Given the description of an element on the screen output the (x, y) to click on. 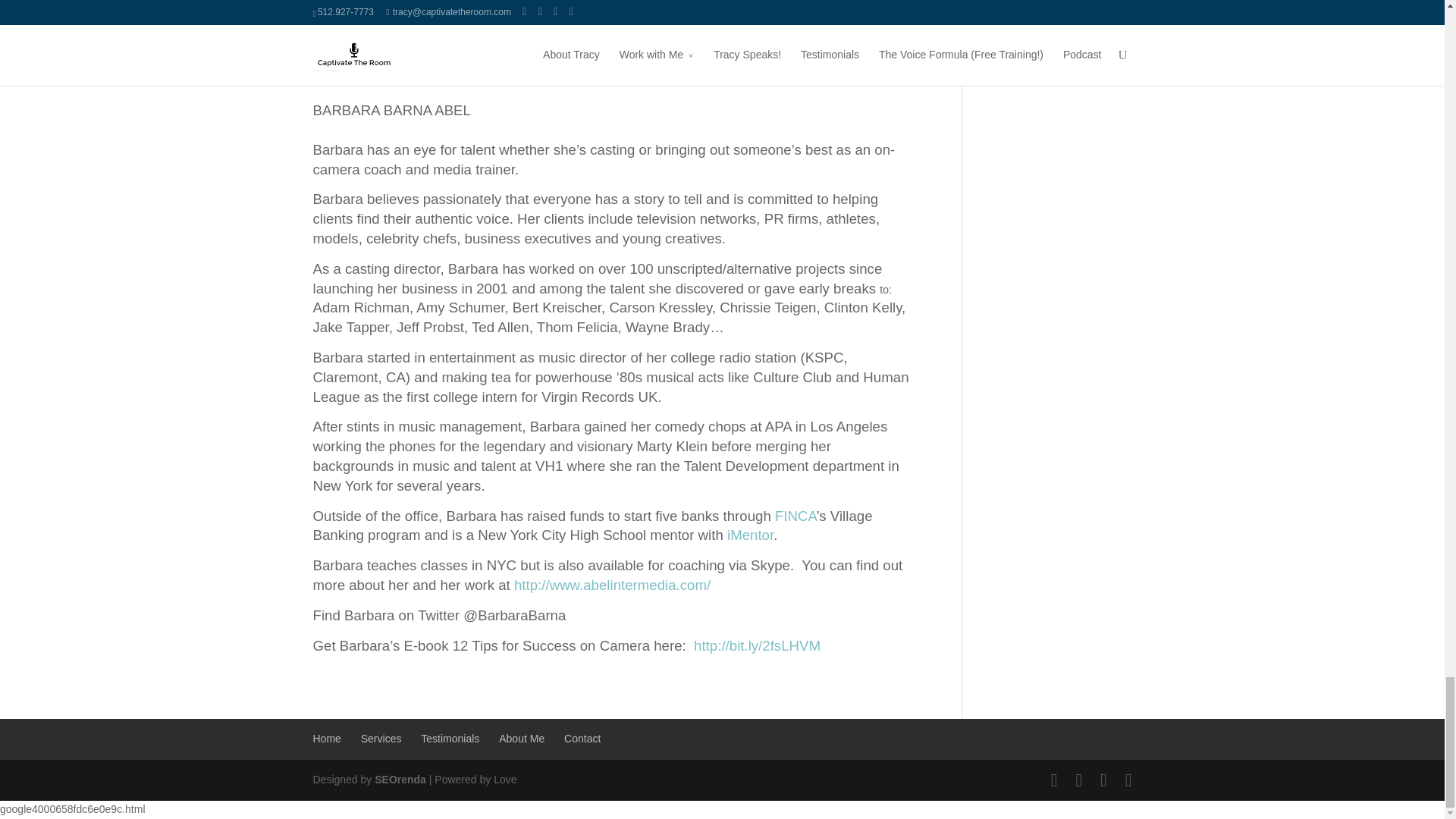
SEOrenda (400, 779)
